Given the description of an element on the screen output the (x, y) to click on. 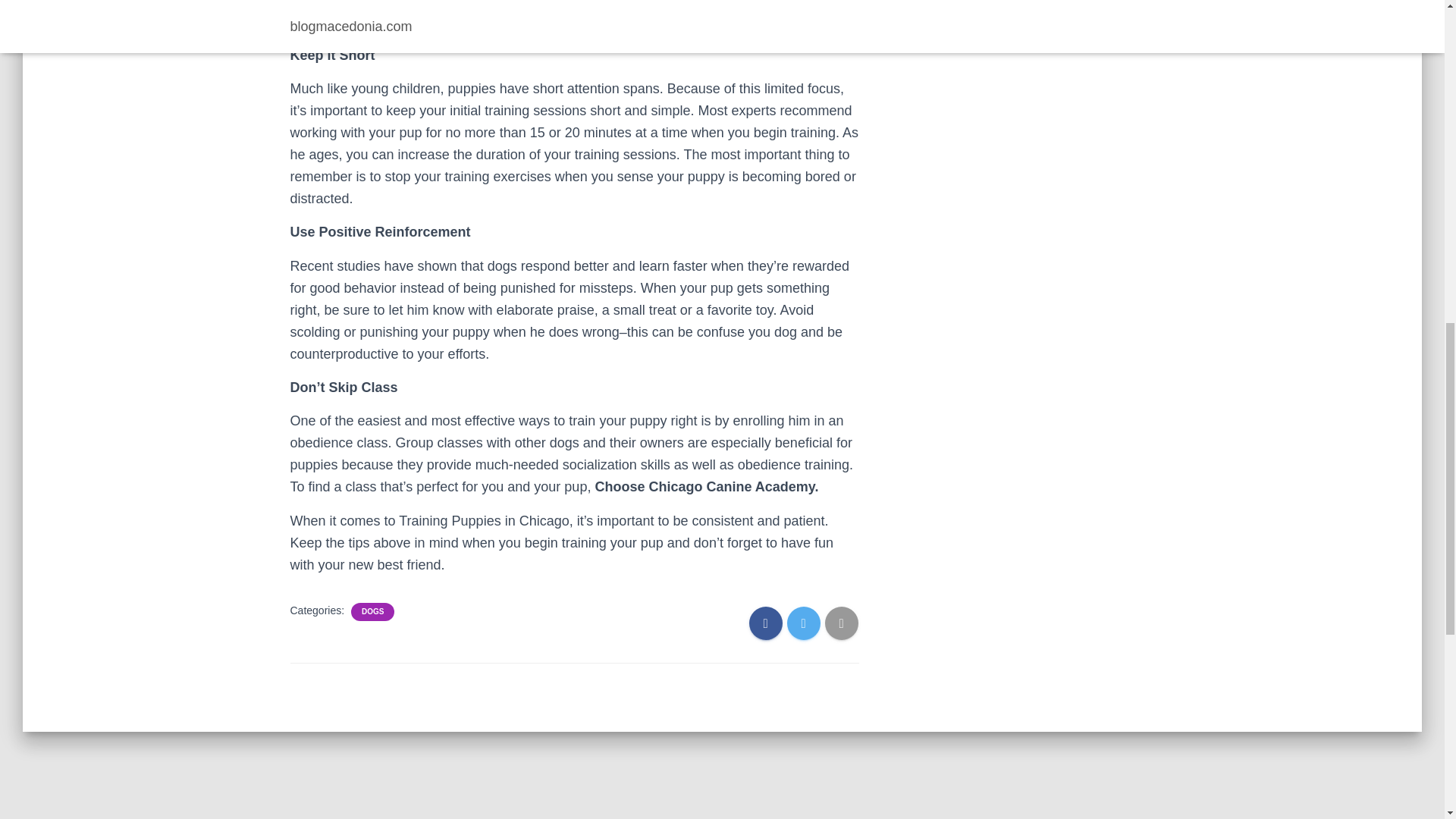
DOGS (372, 611)
